Given the description of an element on the screen output the (x, y) to click on. 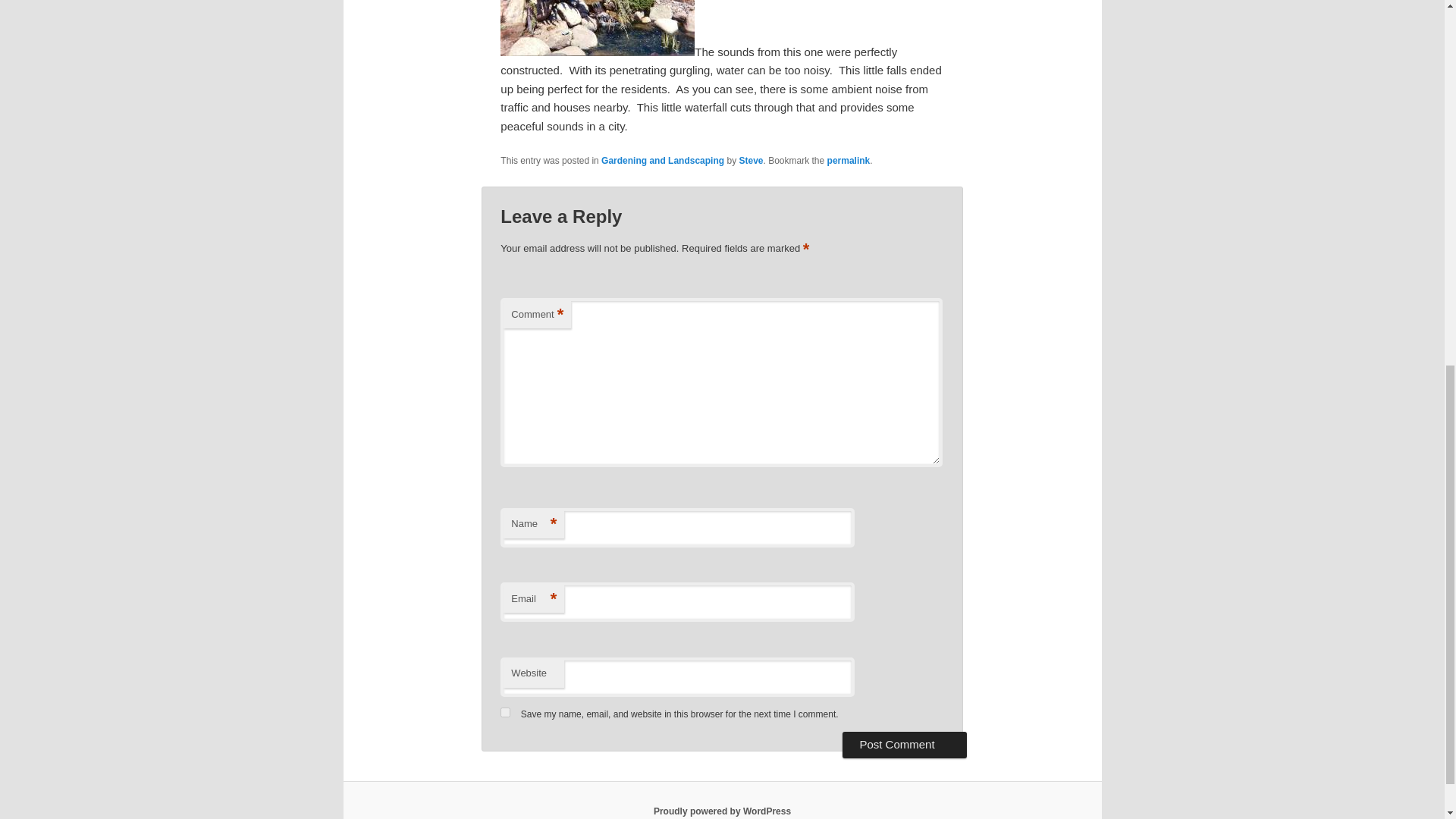
Post Comment (904, 744)
Steve (750, 160)
Proudly powered by WordPress (721, 810)
val-2.jpg (597, 51)
Semantic Personal Publishing Platform (721, 810)
permalink (848, 160)
Post Comment (904, 744)
Permalink to Simple Water Feature (848, 160)
yes (505, 712)
Gardening and Landscaping (662, 160)
